Given the description of an element on the screen output the (x, y) to click on. 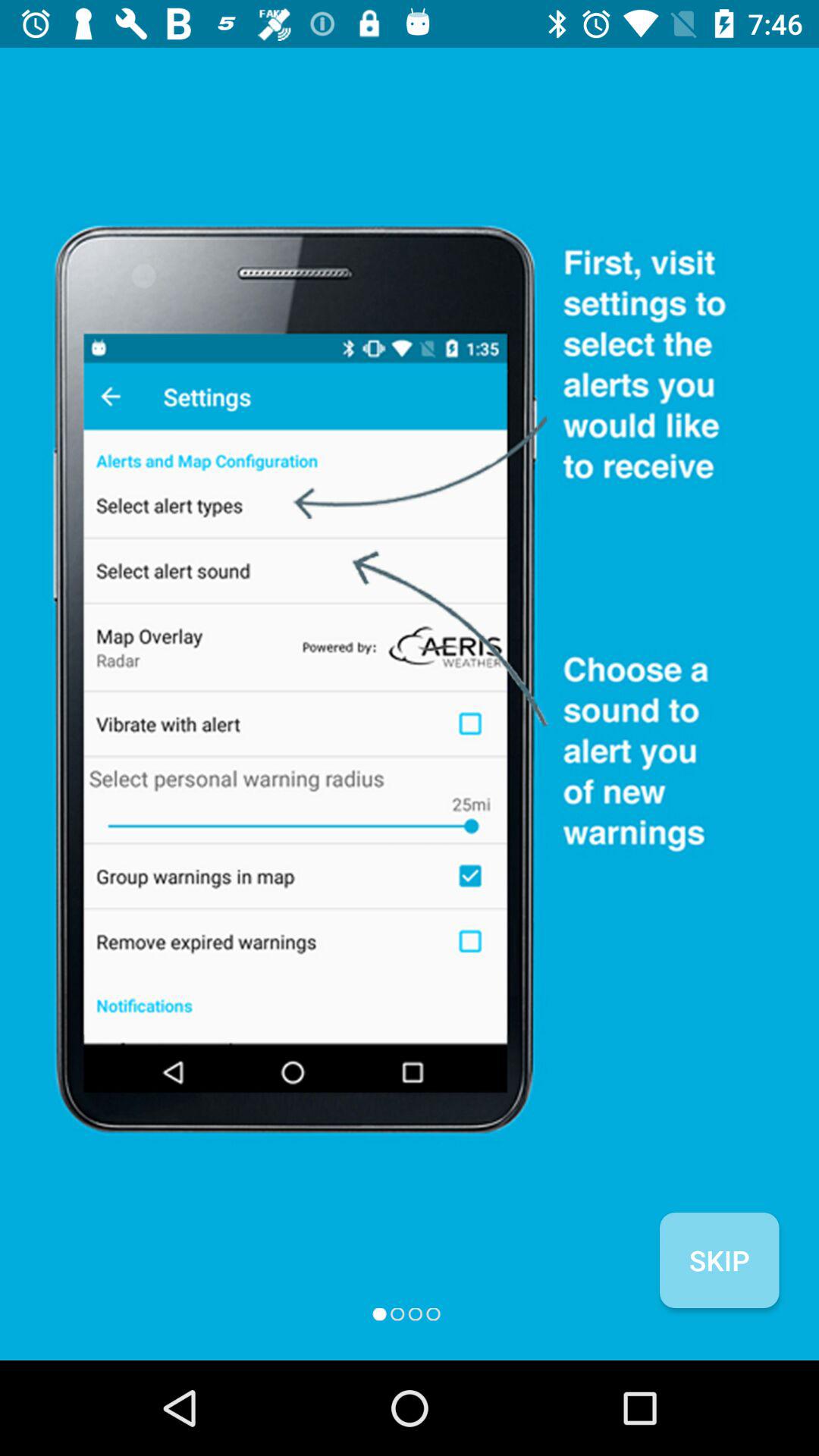
select item at the bottom right corner (719, 1260)
